Given the description of an element on the screen output the (x, y) to click on. 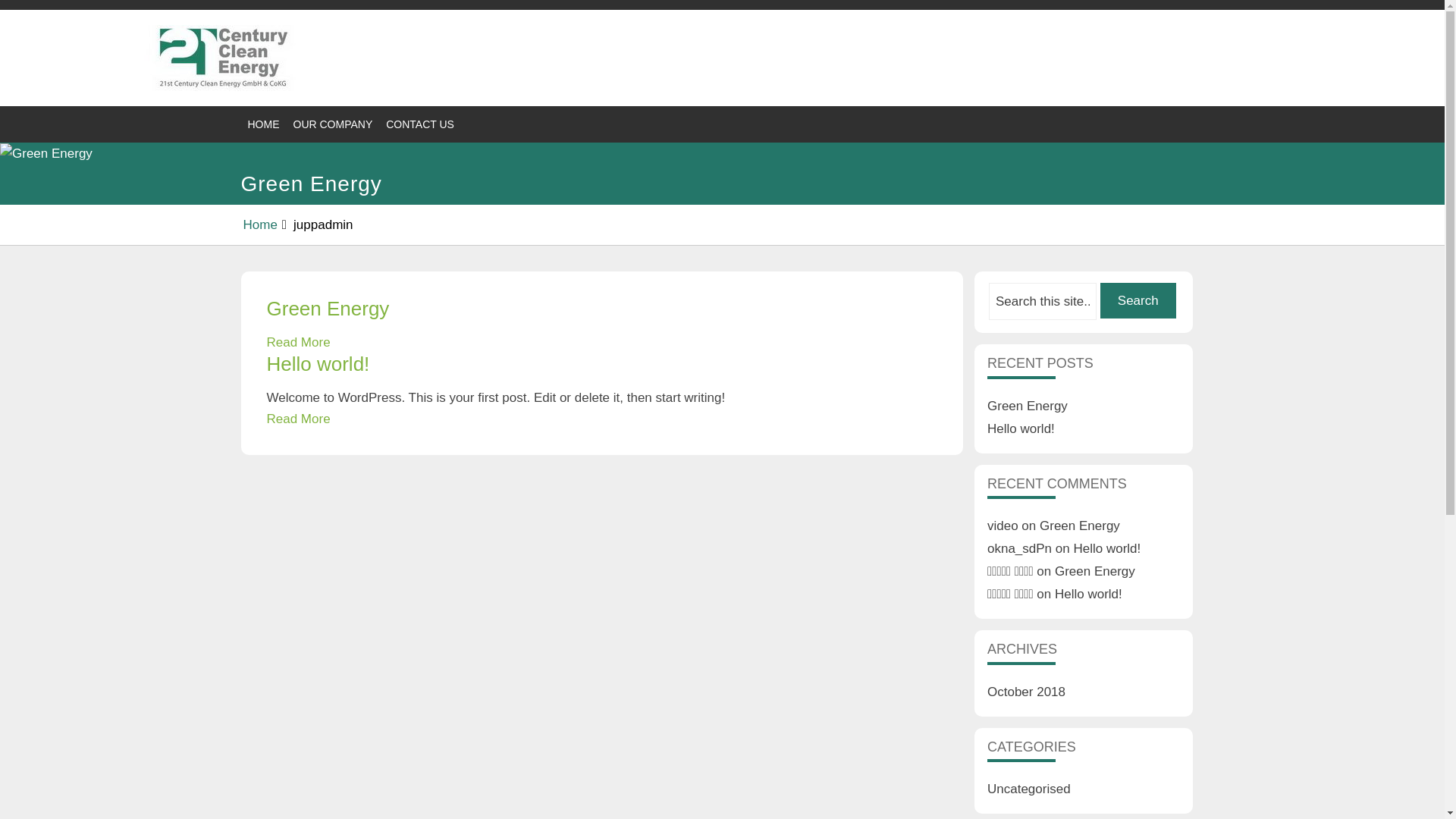
Green Energy Element type: text (1094, 571)
video Element type: text (1002, 525)
Hello world! Element type: text (1088, 593)
okna_sdPn Element type: text (1019, 548)
HOME Element type: text (263, 124)
Hello world! Element type: text (1020, 428)
Uncategorised Element type: text (1028, 788)
Green Energy Element type: text (1027, 405)
Hello world! Element type: text (318, 363)
Read More Element type: text (298, 342)
Home Element type: text (259, 224)
Read More Element type: text (298, 418)
October 2018 Element type: text (1026, 691)
Hello world! Element type: text (1106, 548)
Search Element type: text (1138, 300)
Green Energy Element type: text (327, 308)
CONTACT US Element type: text (420, 124)
OUR COMPANY Element type: text (332, 124)
Green Energy Element type: text (1079, 525)
